Given the description of an element on the screen output the (x, y) to click on. 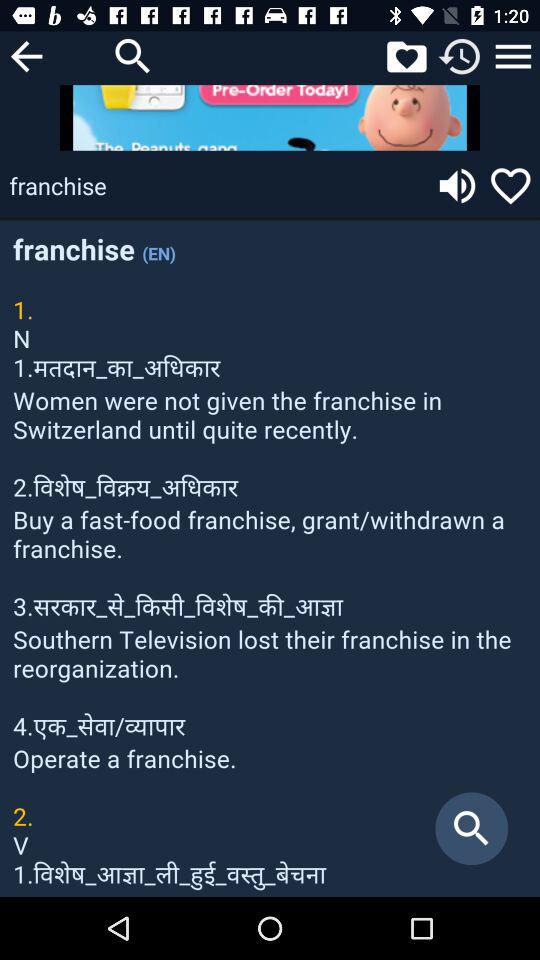
click on advertisement (270, 117)
